Given the description of an element on the screen output the (x, y) to click on. 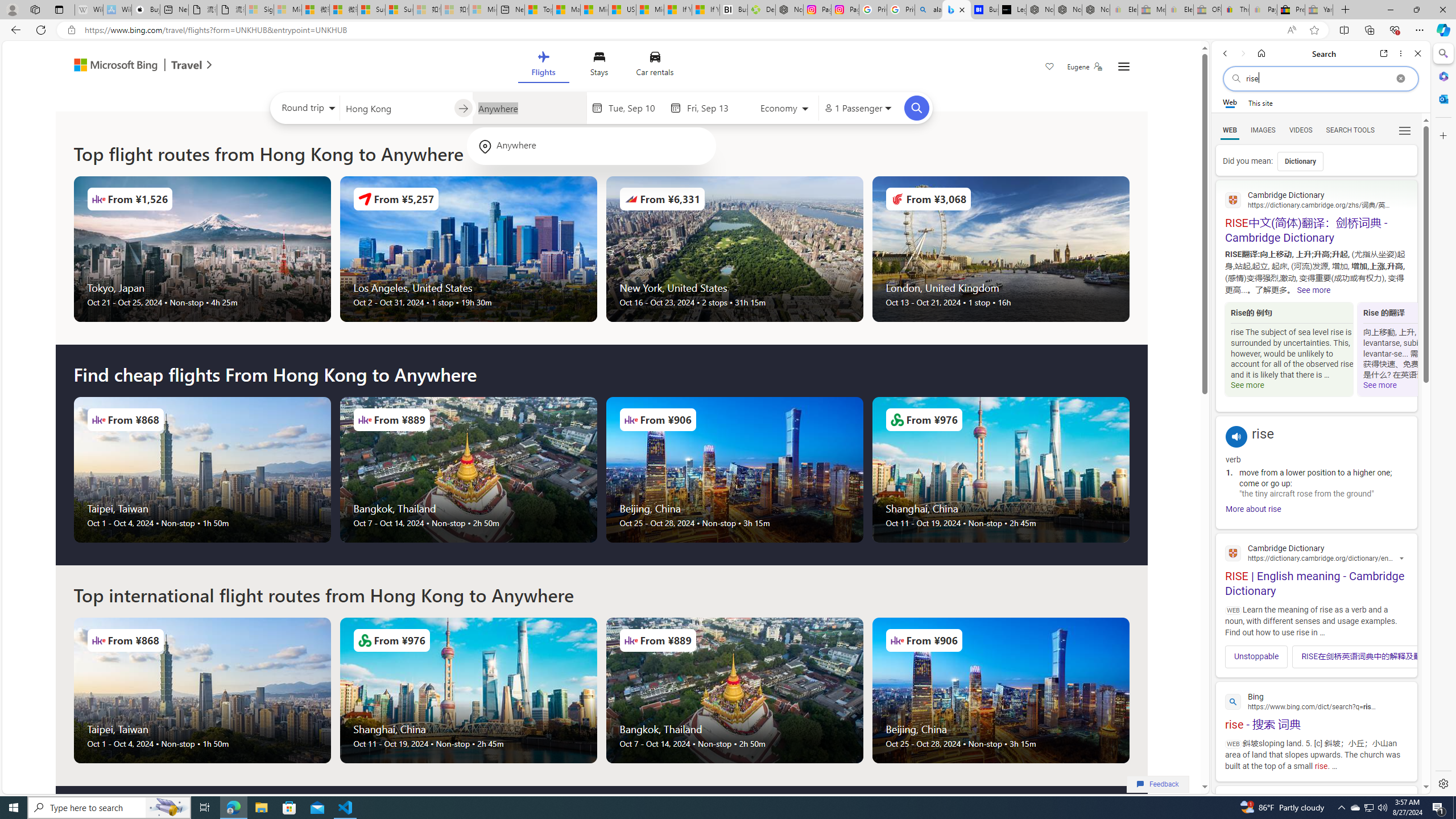
Microsoft Bing Travel (130, 65)
